Given the description of an element on the screen output the (x, y) to click on. 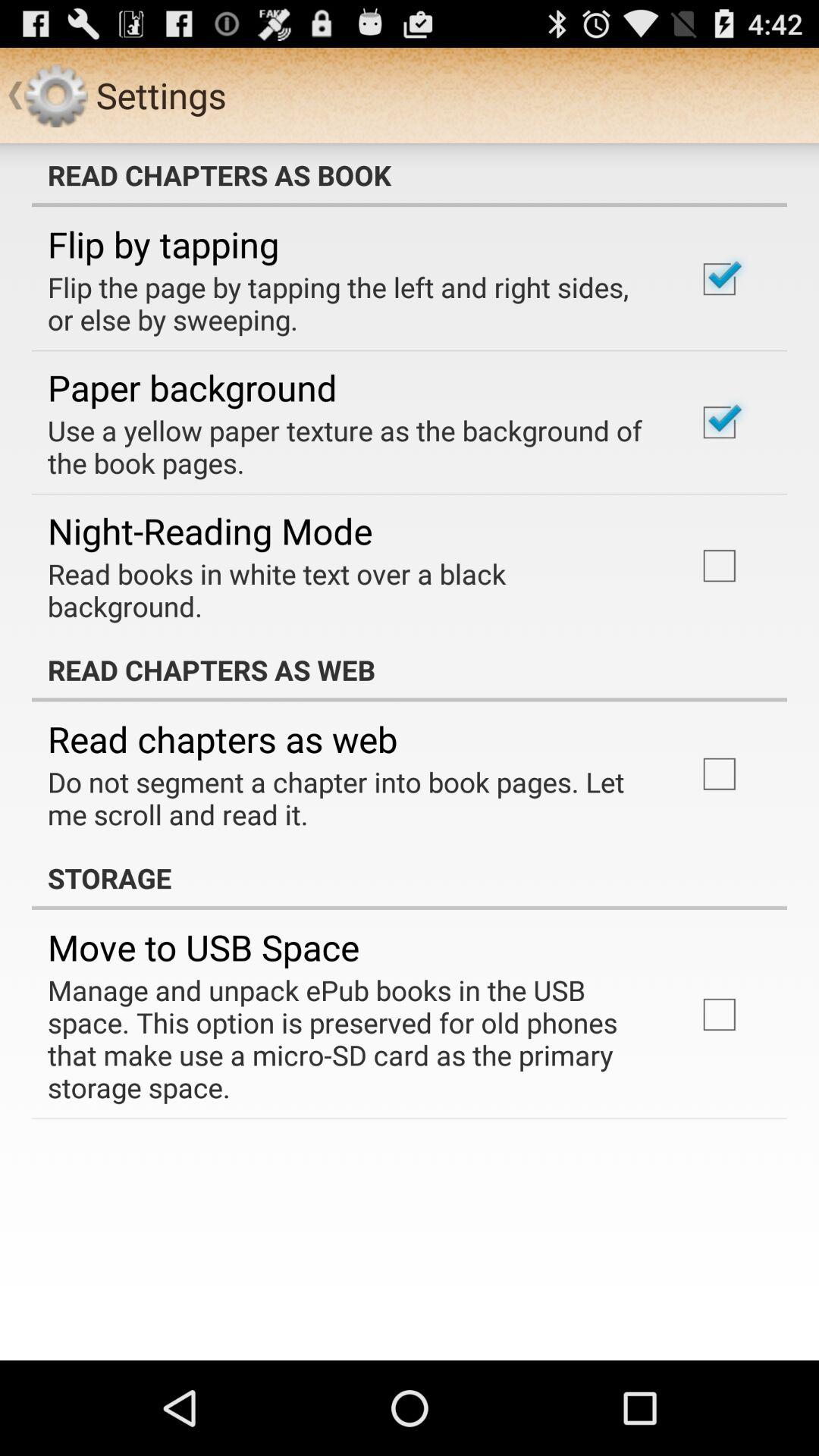
launch the app below flip by tapping item (351, 303)
